Given the description of an element on the screen output the (x, y) to click on. 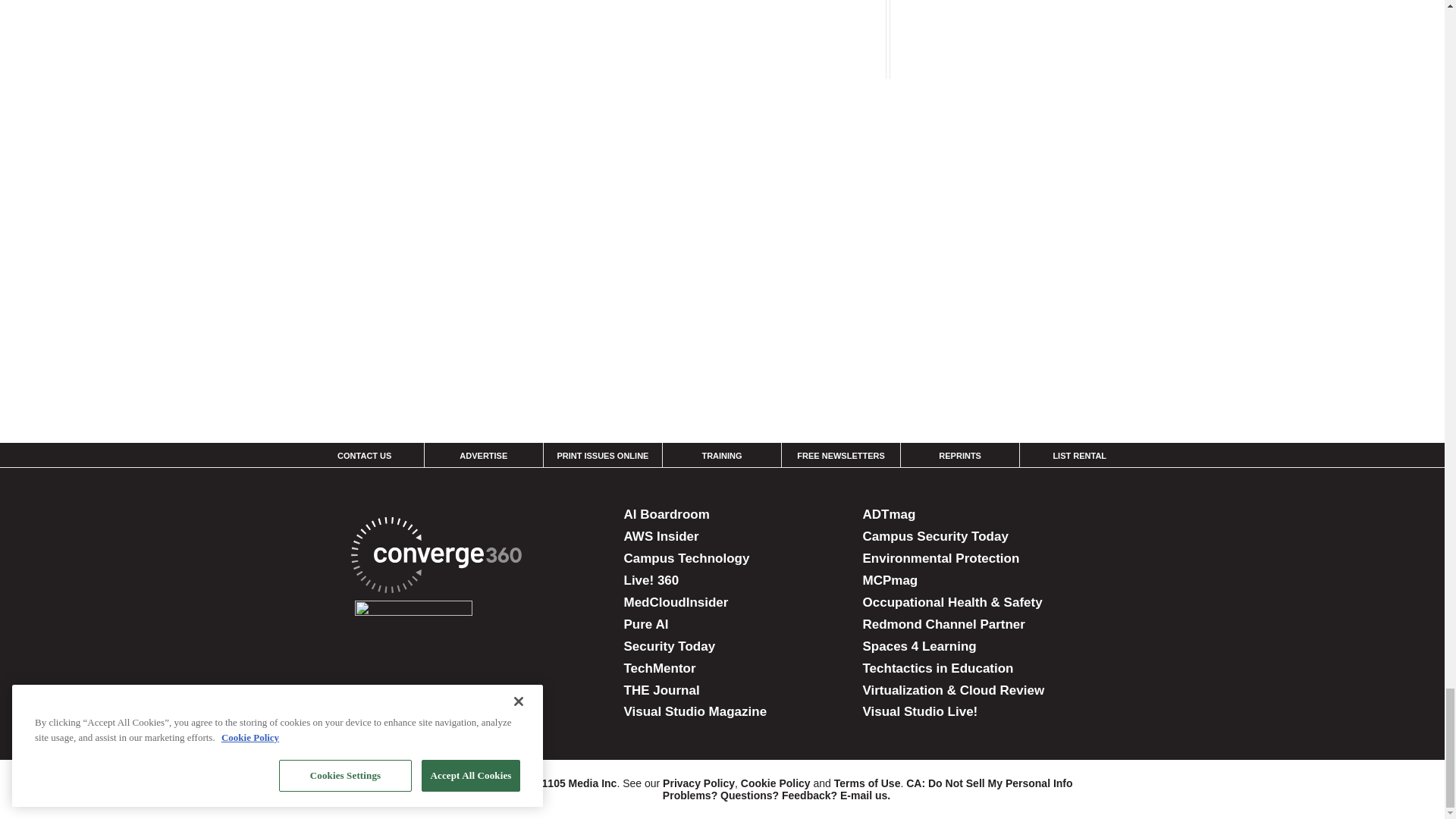
3rd party ad content (1021, 92)
